Given the description of an element on the screen output the (x, y) to click on. 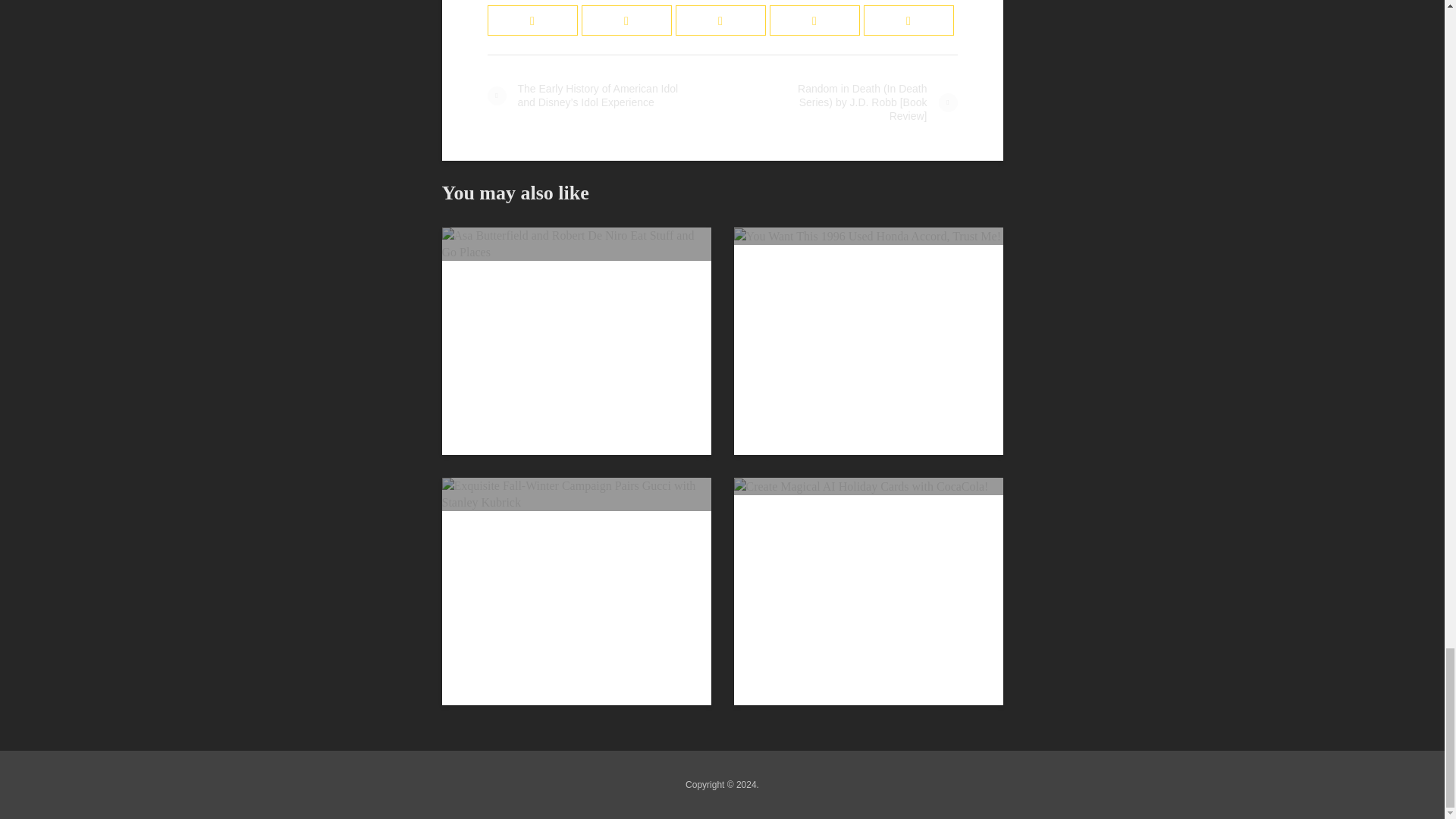
Asa Butterfield and Robert De Niro Eat Stuff and Go Places (575, 242)
Asa Butterfield and Robert De Niro Eat Stuff and Go Places (575, 244)
You Want This 1996 Used Honda Accord, Trust Me! (867, 236)
You Want This 1996 Used Honda Accord, Trust Me! (867, 235)
